Given the description of an element on the screen output the (x, y) to click on. 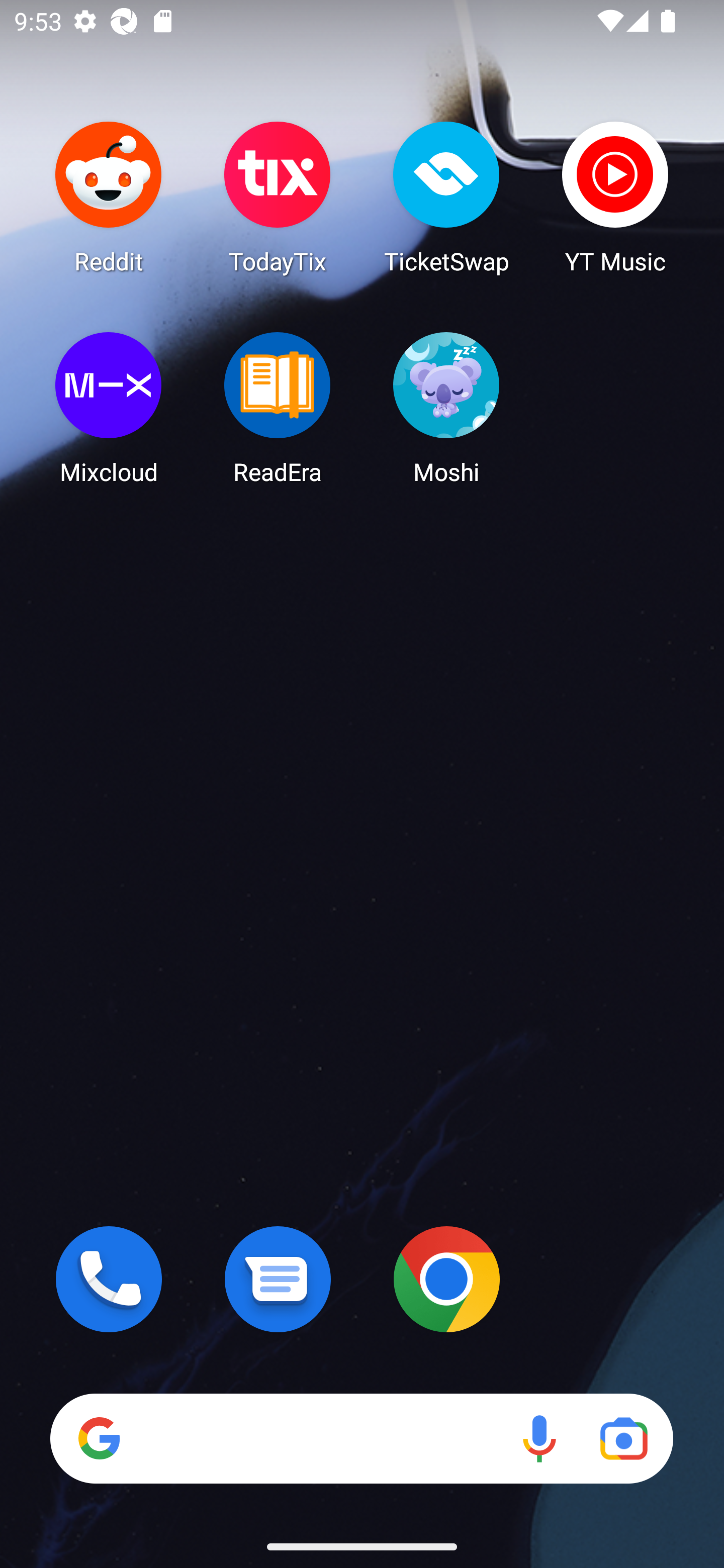
Reddit (108, 196)
TodayTix (277, 196)
TicketSwap (445, 196)
YT Music (615, 196)
Mixcloud (108, 407)
ReadEra (277, 407)
Moshi (445, 407)
Phone (108, 1279)
Messages (277, 1279)
Chrome (446, 1279)
Voice search (539, 1438)
Google Lens (623, 1438)
